Given the description of an element on the screen output the (x, y) to click on. 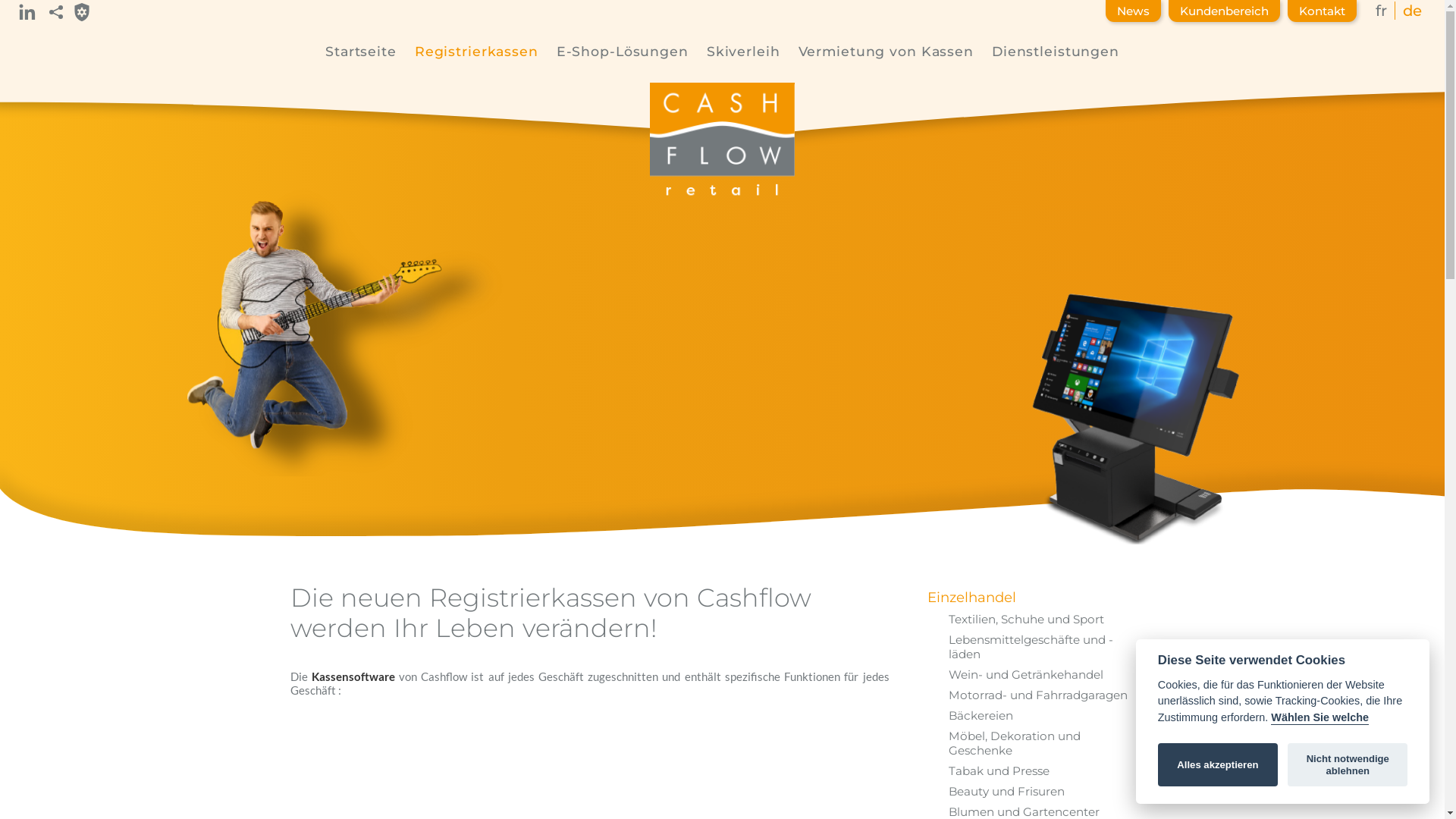
Textilien, Schuhe und Sport Element type: text (1040, 618)
Dienstleistungen Element type: text (1055, 51)
Kontakt Element type: text (1321, 10)
Beauty und Frisuren Element type: text (1040, 791)
Skiverleih Element type: text (743, 51)
de Element type: text (1411, 10)
Kundenbereich Element type: text (1224, 10)
Registrierkassen Element type: text (476, 51)
Nicht notwendige ablehnen Element type: text (1347, 765)
Vermietung von Kassen Element type: text (885, 51)
Einzelhandel Element type: text (1031, 596)
fr Element type: text (1381, 10)
Tabak und Presse Element type: text (1040, 770)
Startseite Element type: text (360, 51)
Motorrad- und Fahrradgaragen Element type: text (1040, 694)
News Element type: text (1133, 10)
Alles akzeptieren Element type: text (1217, 765)
Cookies Einstellungen Element type: hover (81, 12)
